Given the description of an element on the screen output the (x, y) to click on. 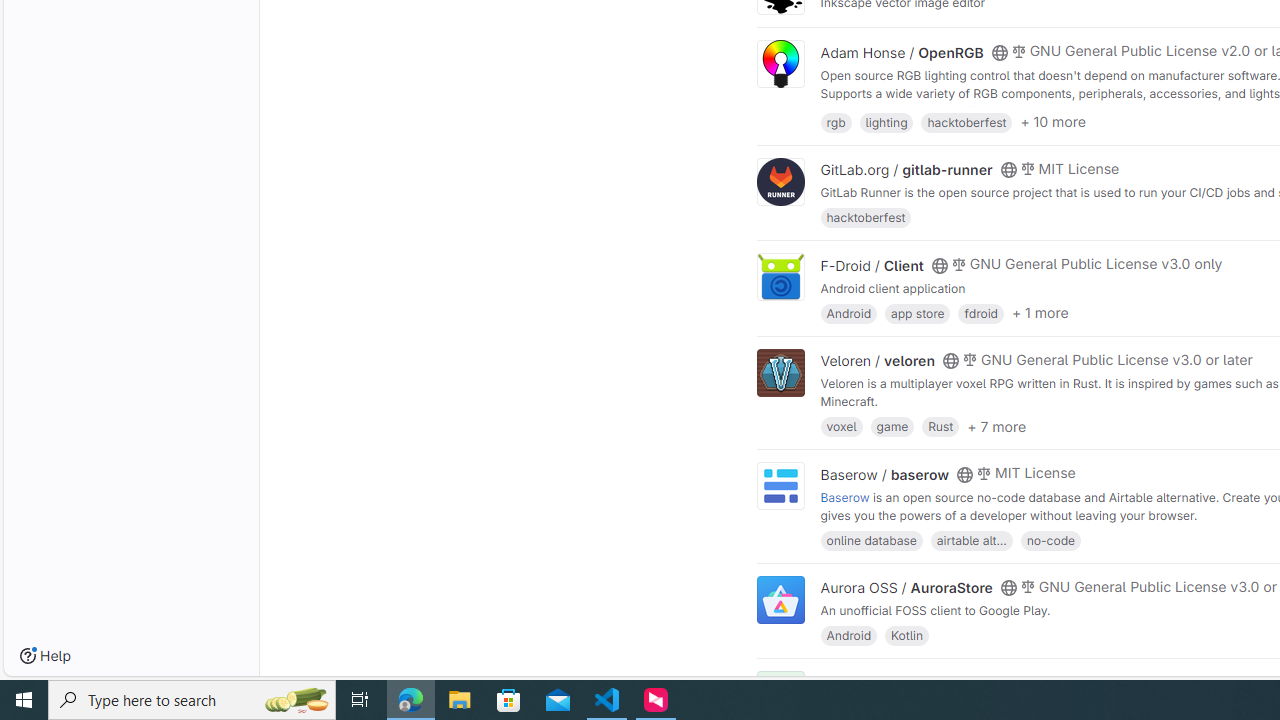
Android (848, 634)
+ 7 more (996, 425)
Rust (940, 426)
lighting (886, 120)
airtable alt... (971, 539)
F-Droid / Client (872, 265)
app store (917, 312)
Class: s16 (999, 683)
Class: project (780, 599)
https://openrgb.org (989, 110)
rgb (836, 120)
no-code (1050, 539)
Class: s14 gl-mr-2 (1018, 681)
voxel (841, 426)
hacktoberfest (866, 217)
